Given the description of an element on the screen output the (x, y) to click on. 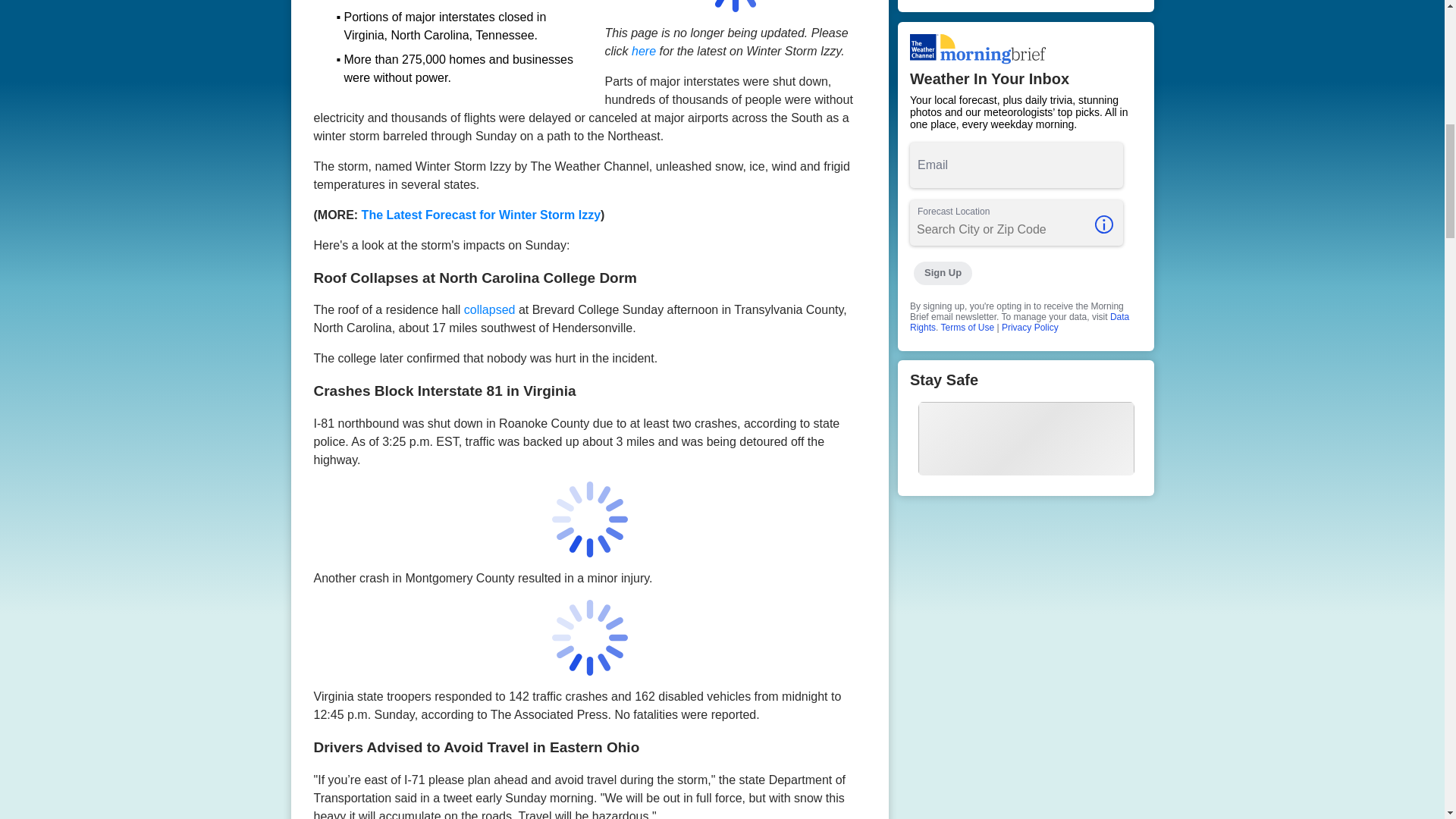
collapsed (489, 309)
Stay Safe (1026, 428)
The Latest Forecast for Winter Storm Izzy (480, 214)
Our World (1026, 6)
here (643, 50)
